Given the description of an element on the screen output the (x, y) to click on. 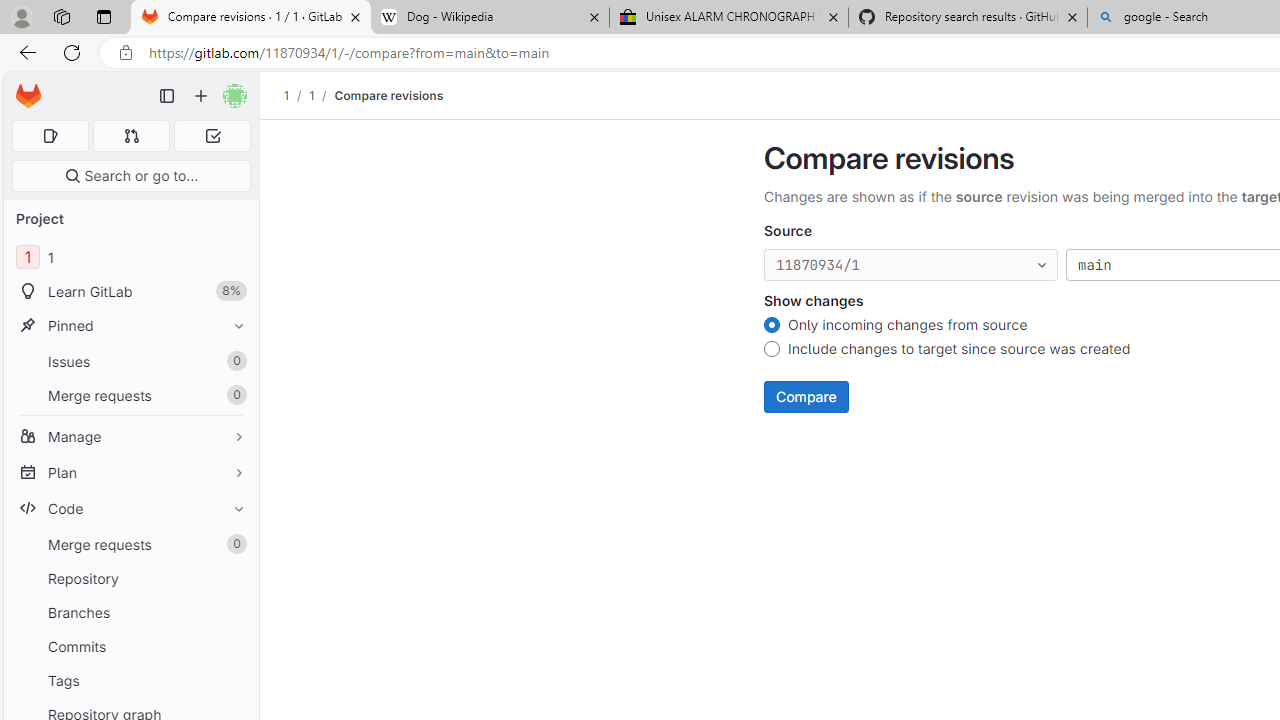
Learn GitLab 8% (130, 291)
Merge requests 0 (131, 136)
Primary navigation sidebar (167, 96)
Branches (130, 612)
To-Do list 0 (212, 136)
Unpin Merge requests (234, 544)
Pin Commits (234, 646)
Issues0 (130, 361)
Code (130, 507)
Only incoming changes from source (771, 326)
Merge requests0 (130, 543)
